Given the description of an element on the screen output the (x, y) to click on. 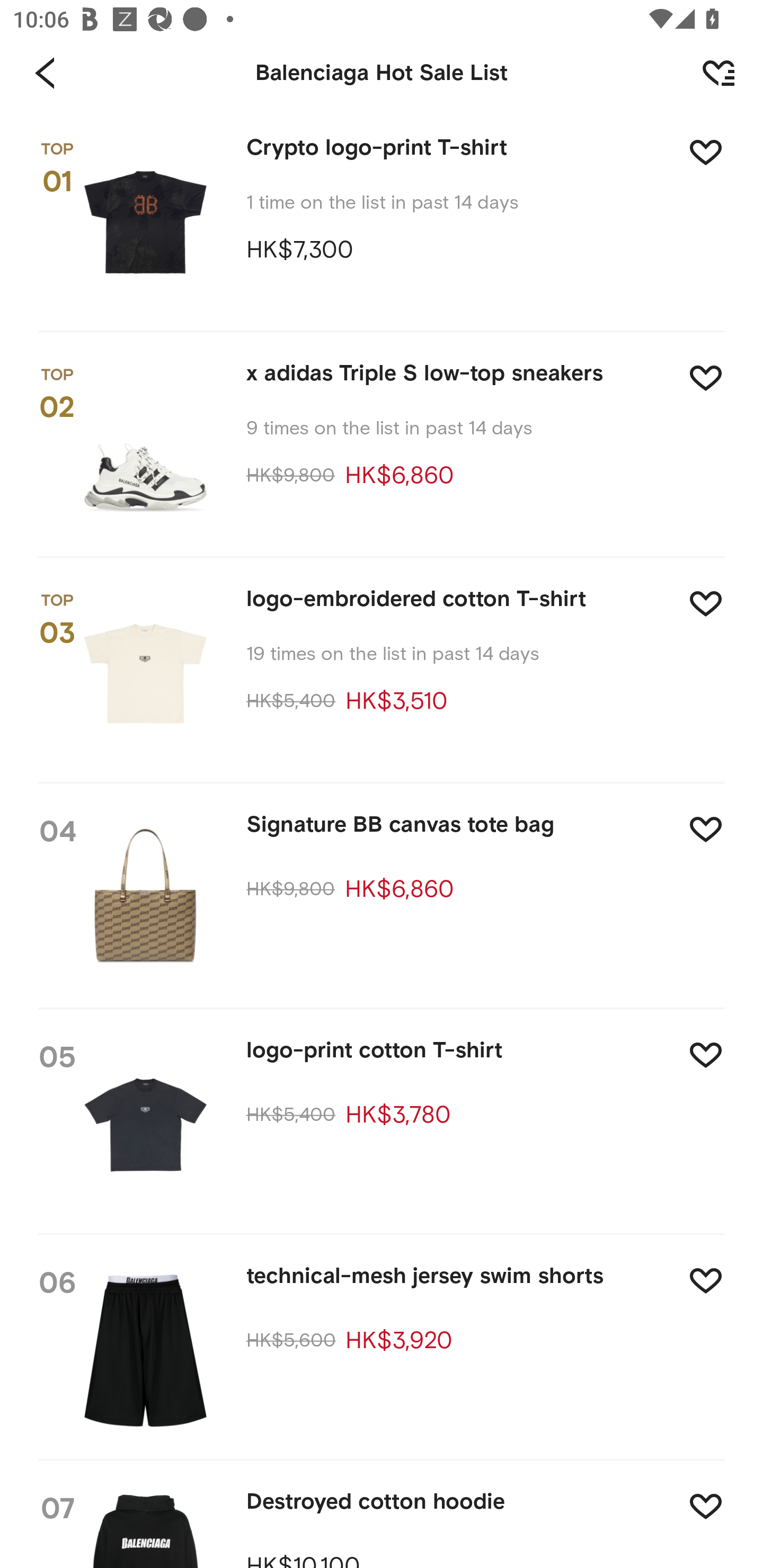
04 Signature BB canvas tote bag HK$9,800 HK$6,860 (381, 897)
05 logo-print cotton T-shirt HK$5,400 HK$3,780 (381, 1123)
07 Destroyed cotton hoodie HK$10,100 (381, 1514)
